Given the description of an element on the screen output the (x, y) to click on. 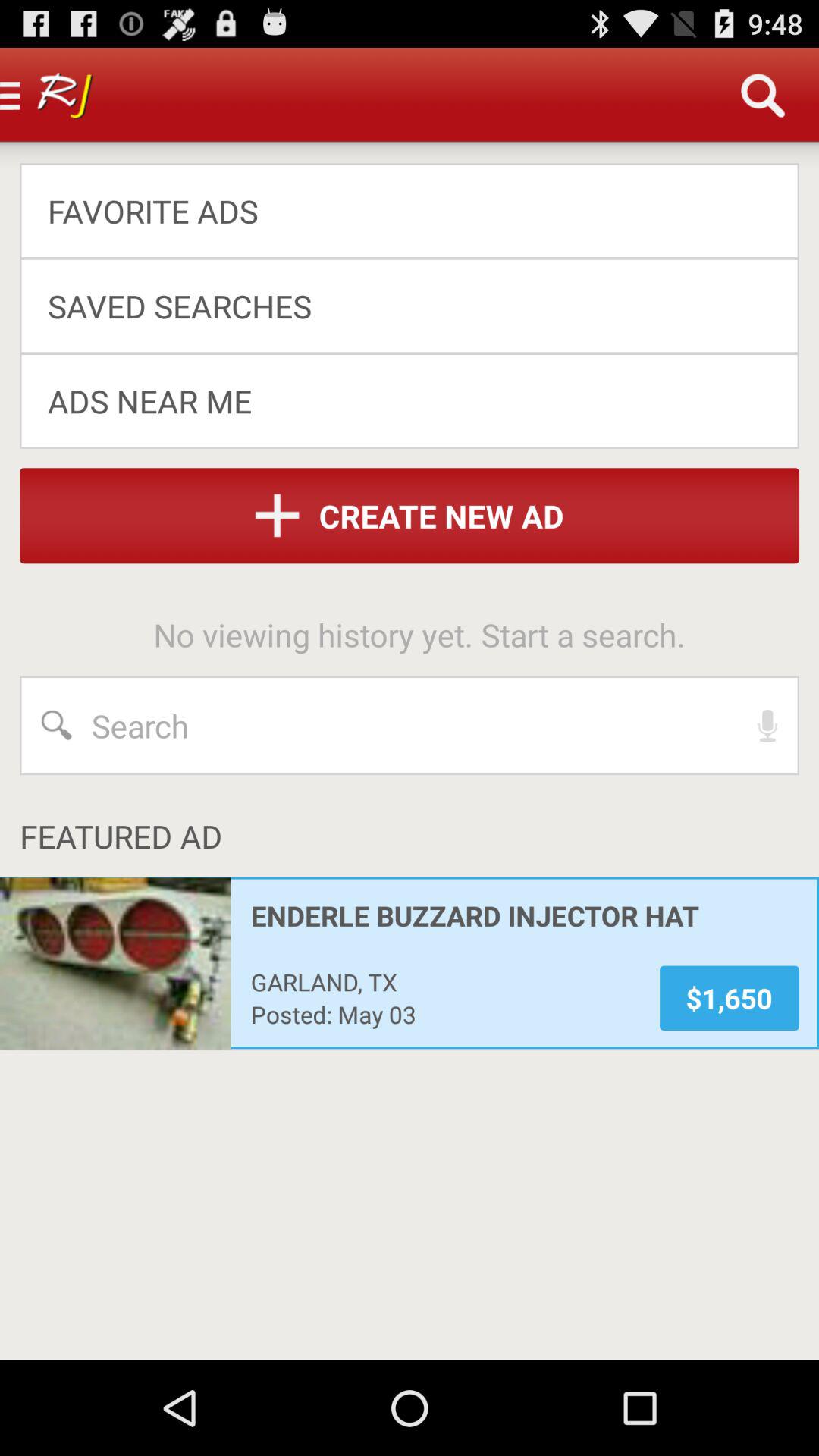
tap app to the left of $1,650 (444, 981)
